Given the description of an element on the screen output the (x, y) to click on. 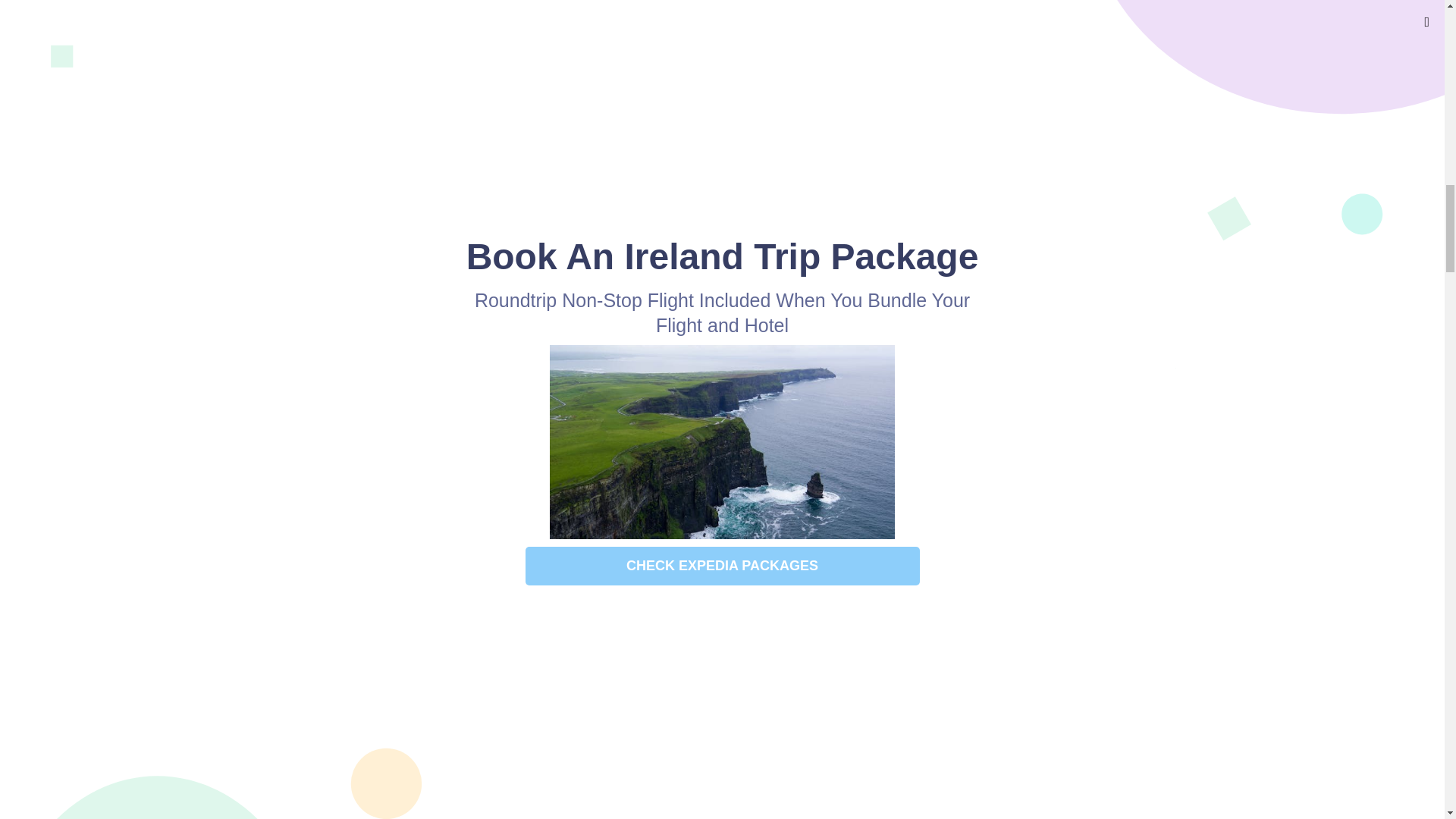
early Celtic usage (702, 439)
Neolithic times (641, 86)
